Given the description of an element on the screen output the (x, y) to click on. 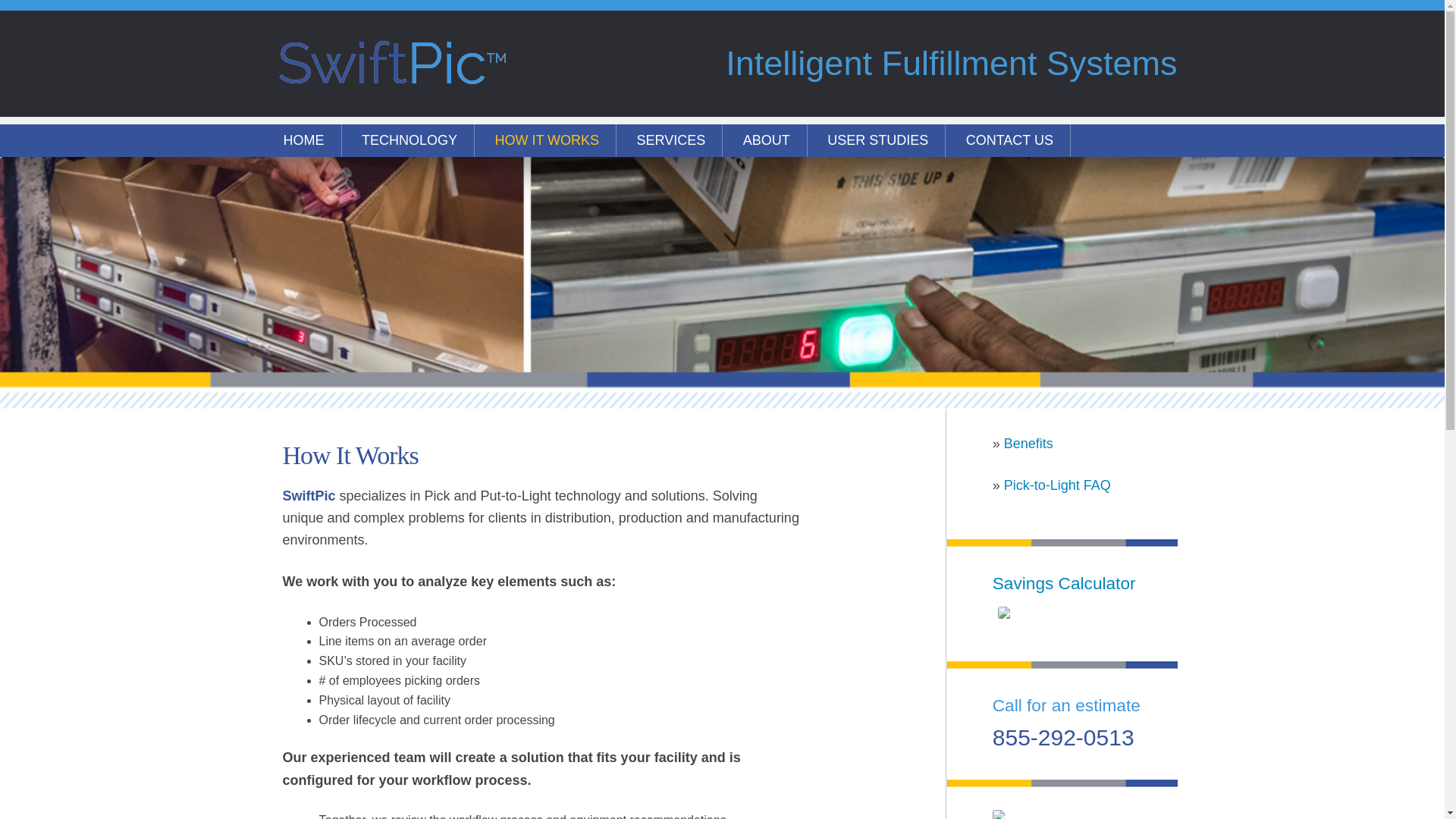
USER STUDIES (877, 140)
HOME (303, 140)
TECHNOLOGY (409, 140)
HOW IT WORKS (546, 140)
SERVICES (671, 140)
CONTACT US (1009, 140)
Pick-to-Light FAQ (1057, 485)
Savings Calculator (1063, 582)
ABOUT (766, 140)
Benefits (1028, 443)
